Given the description of an element on the screen output the (x, y) to click on. 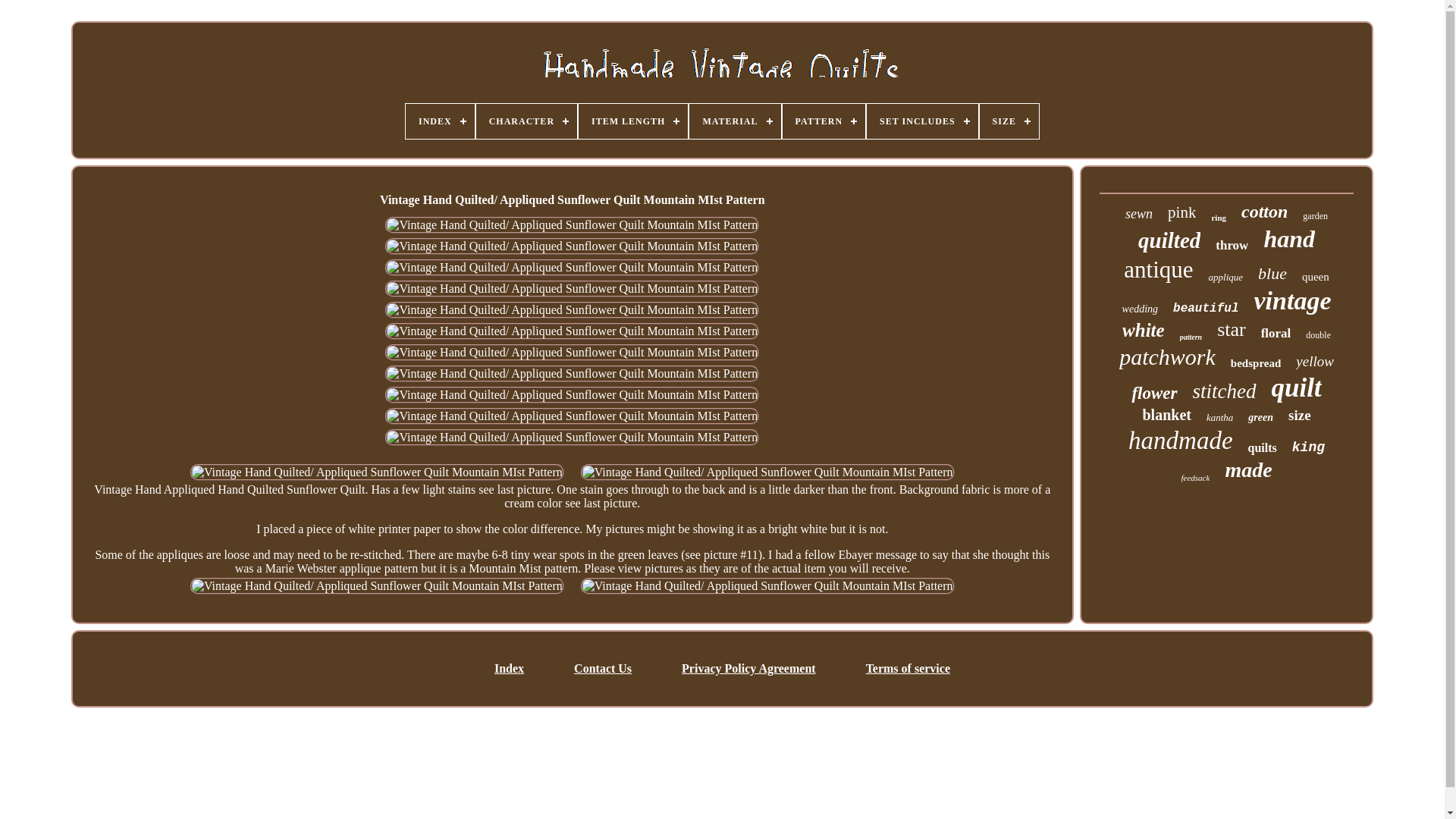
CHARACTER (526, 121)
INDEX (440, 121)
ITEM LENGTH (632, 121)
